Given the description of an element on the screen output the (x, y) to click on. 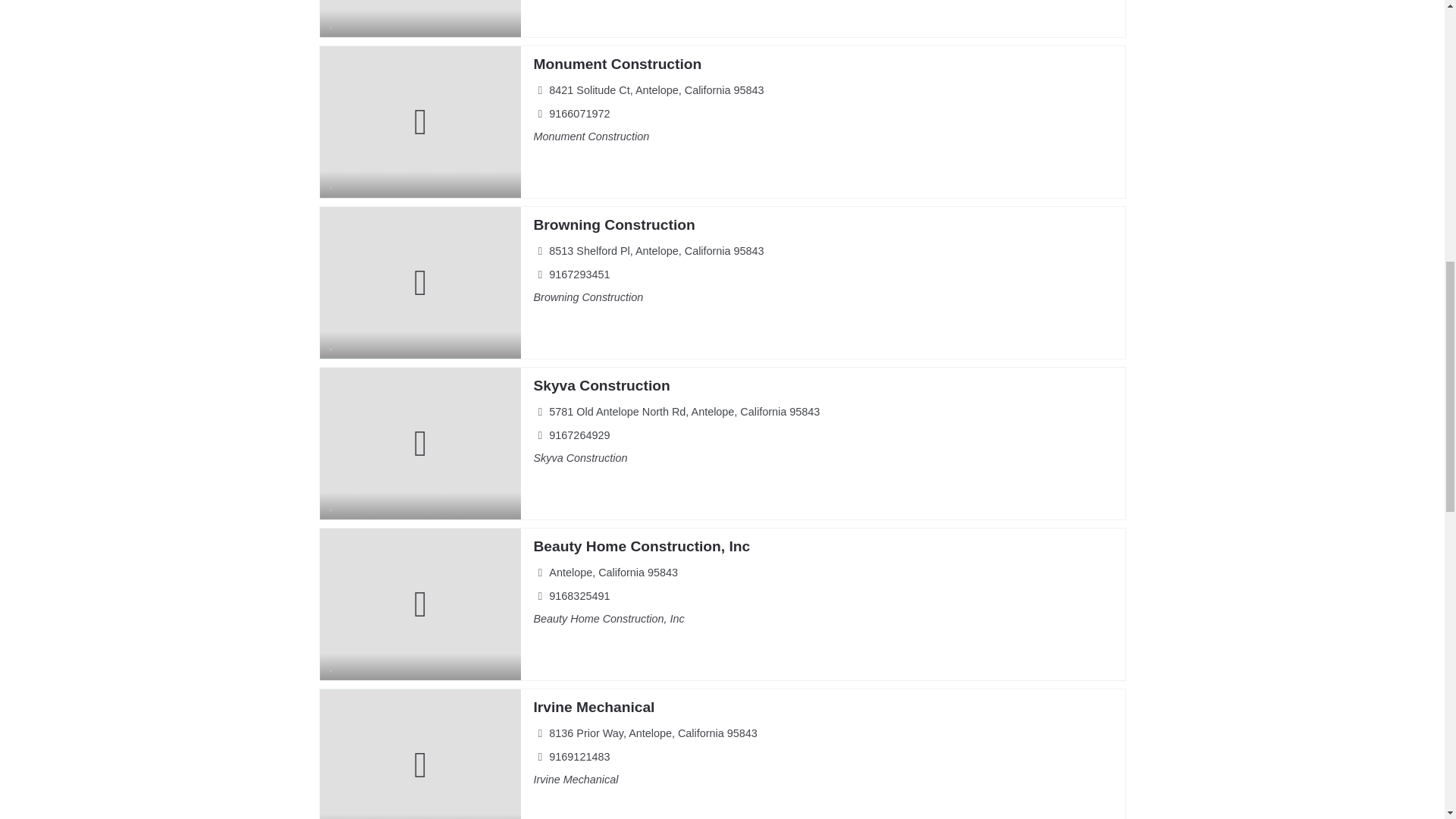
Skyva Construction (600, 385)
Irvine Mechanical (592, 706)
Beauty Home Construction, Inc (640, 546)
Browning Construction (613, 224)
Monument Construction (616, 64)
Bookmark (331, 815)
Skyva Construction (600, 385)
Browning Construction (613, 224)
Monument Construction (616, 64)
